Given the description of an element on the screen output the (x, y) to click on. 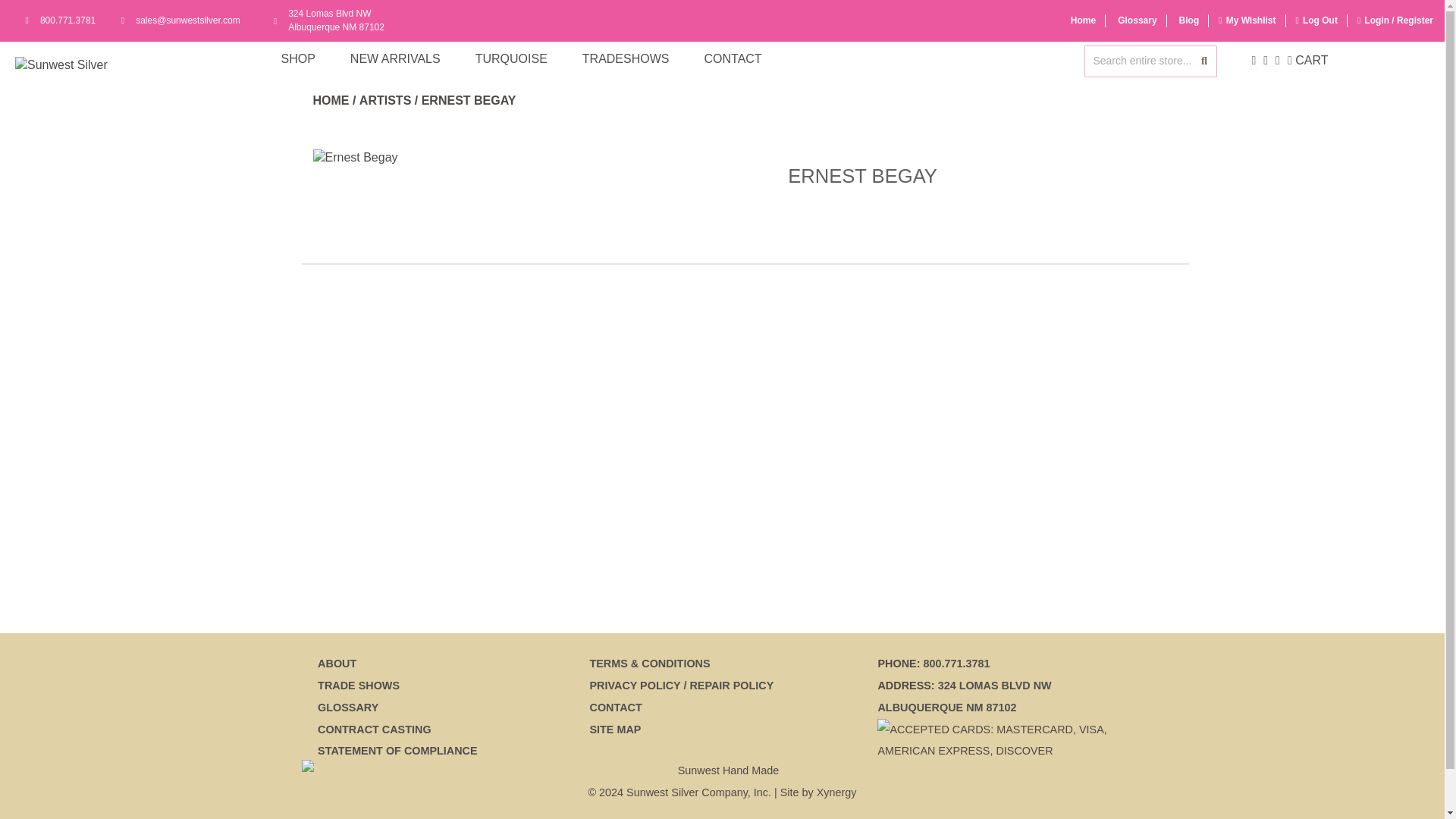
Log Out (1320, 20)
My Wishlist (1250, 20)
TRADESHOWS (625, 58)
Blog (1189, 20)
TURQUOISE (511, 58)
800.771.3781 (332, 20)
Sunwest Silver (64, 20)
Contract Casting (74, 65)
Home (373, 729)
Go to Home Page (1083, 20)
Sunwest Silver (331, 100)
Glossary (81, 65)
Search (1137, 20)
Artists (1204, 60)
